Given the description of an element on the screen output the (x, y) to click on. 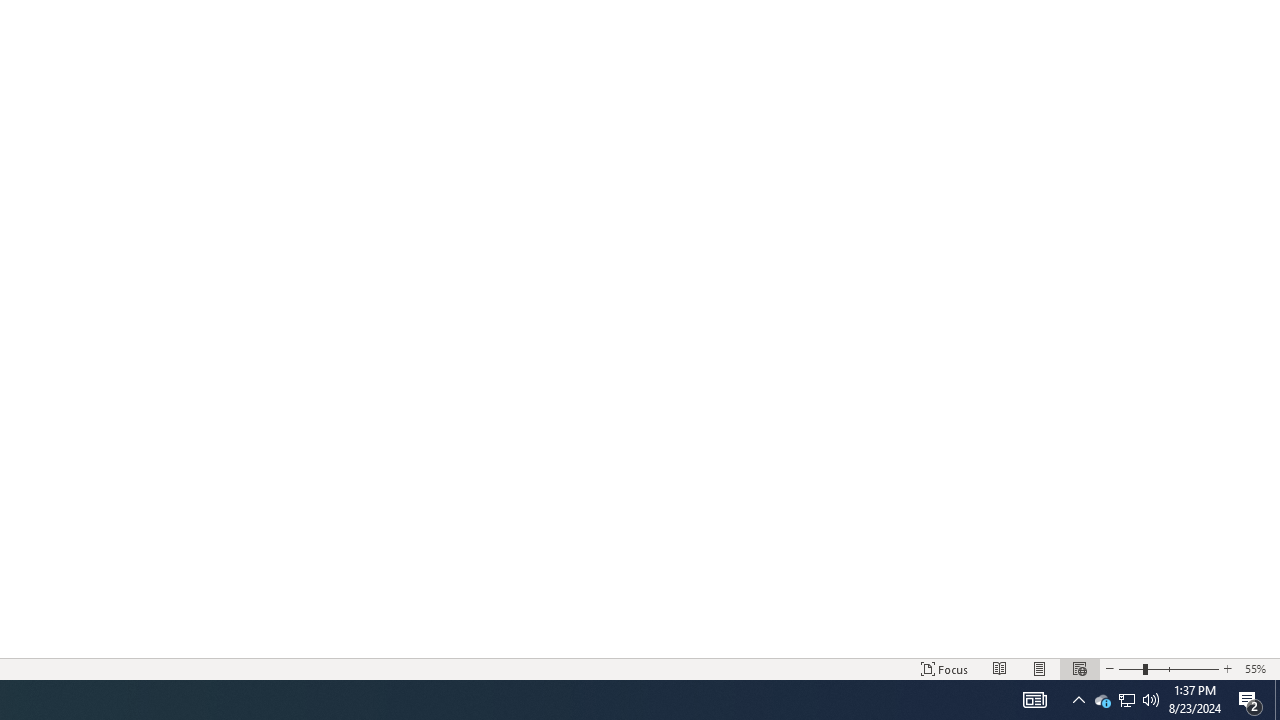
Read Mode (1000, 668)
Zoom (1168, 668)
Zoom In (1227, 668)
Zoom Out (1130, 668)
Focus  (944, 668)
Web Layout (1079, 668)
Zoom 55% (1258, 668)
Print Layout (1039, 668)
